Given the description of an element on the screen output the (x, y) to click on. 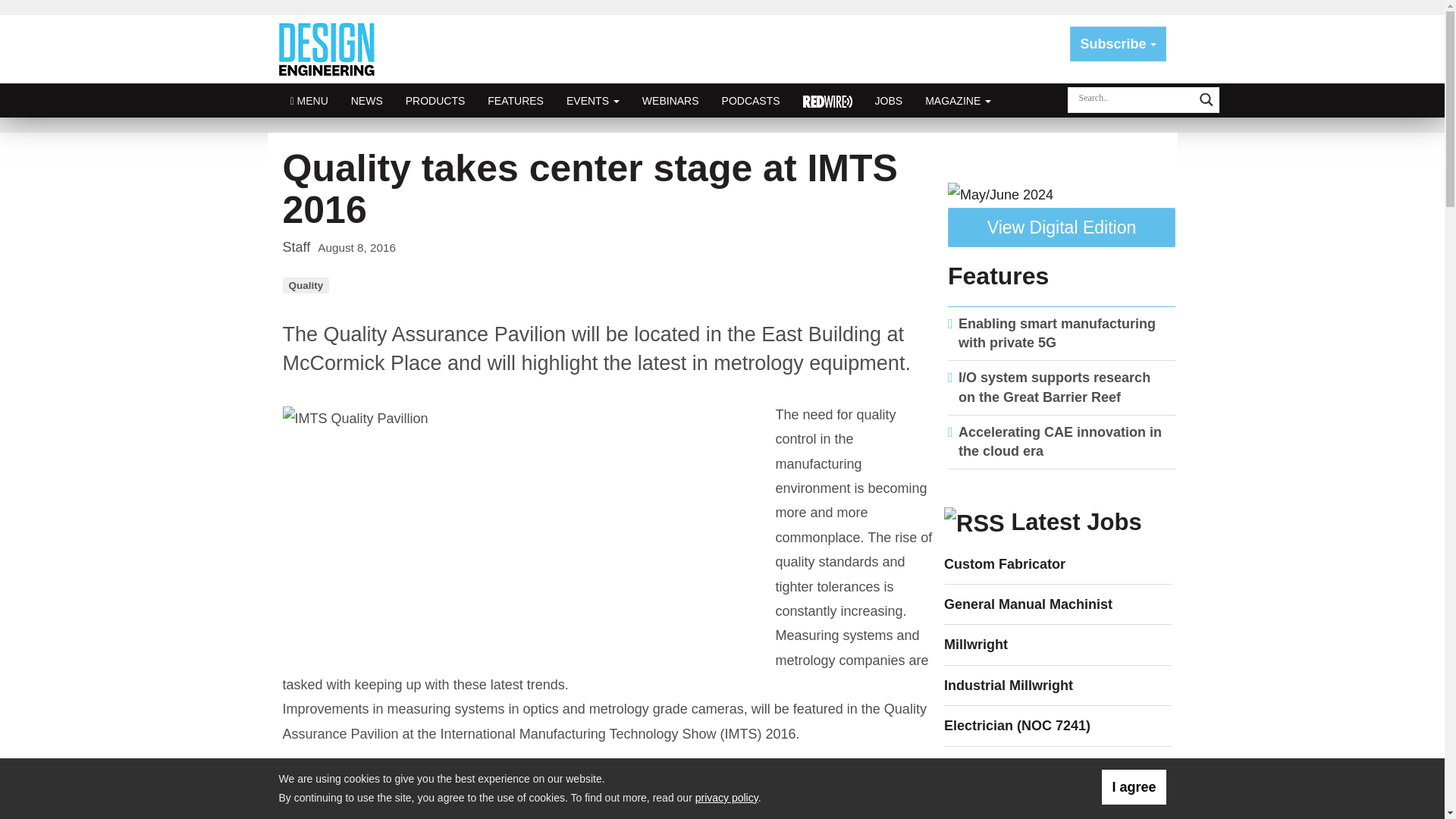
MAGAZINE (958, 100)
WEBINARS (670, 100)
FEATURES (515, 100)
PODCASTS (751, 100)
Click to show site navigation (309, 100)
Design Engineering (332, 48)
EVENTS (592, 100)
MENU (309, 100)
PRODUCTS (435, 100)
Subscribe (1118, 43)
NEWS (366, 100)
JOBS (888, 100)
